Given the description of an element on the screen output the (x, y) to click on. 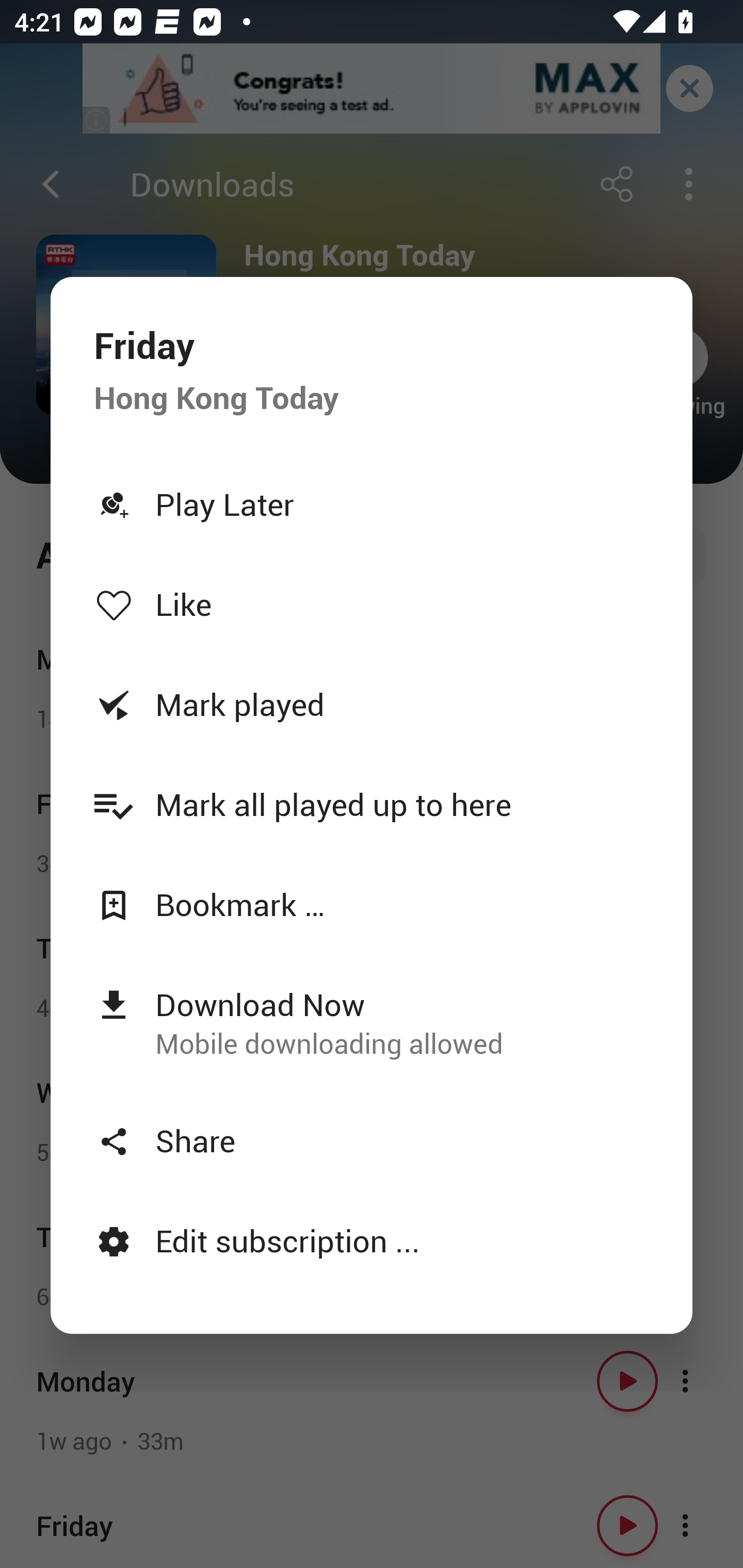
Play Later (371, 503)
Like (371, 603)
Mark played (371, 703)
Mark all played up to here (371, 804)
Bookmark … (371, 904)
Download Now Mobile downloading allowed (371, 1021)
Share (371, 1139)
Edit subscription ... (371, 1240)
